Given the description of an element on the screen output the (x, y) to click on. 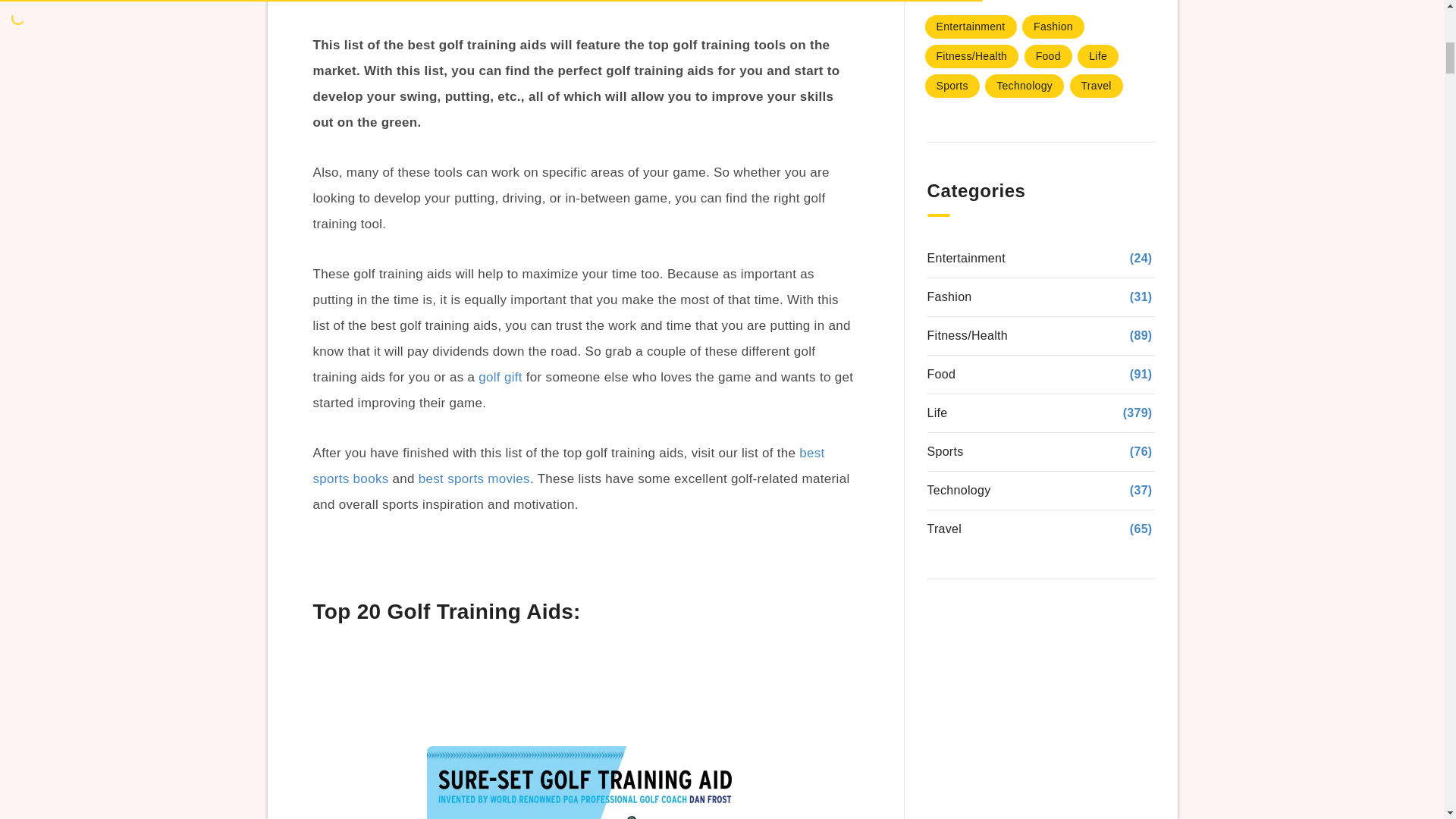
best sports books (568, 465)
best sports movies (474, 478)
golf gift (500, 377)
